Given the description of an element on the screen output the (x, y) to click on. 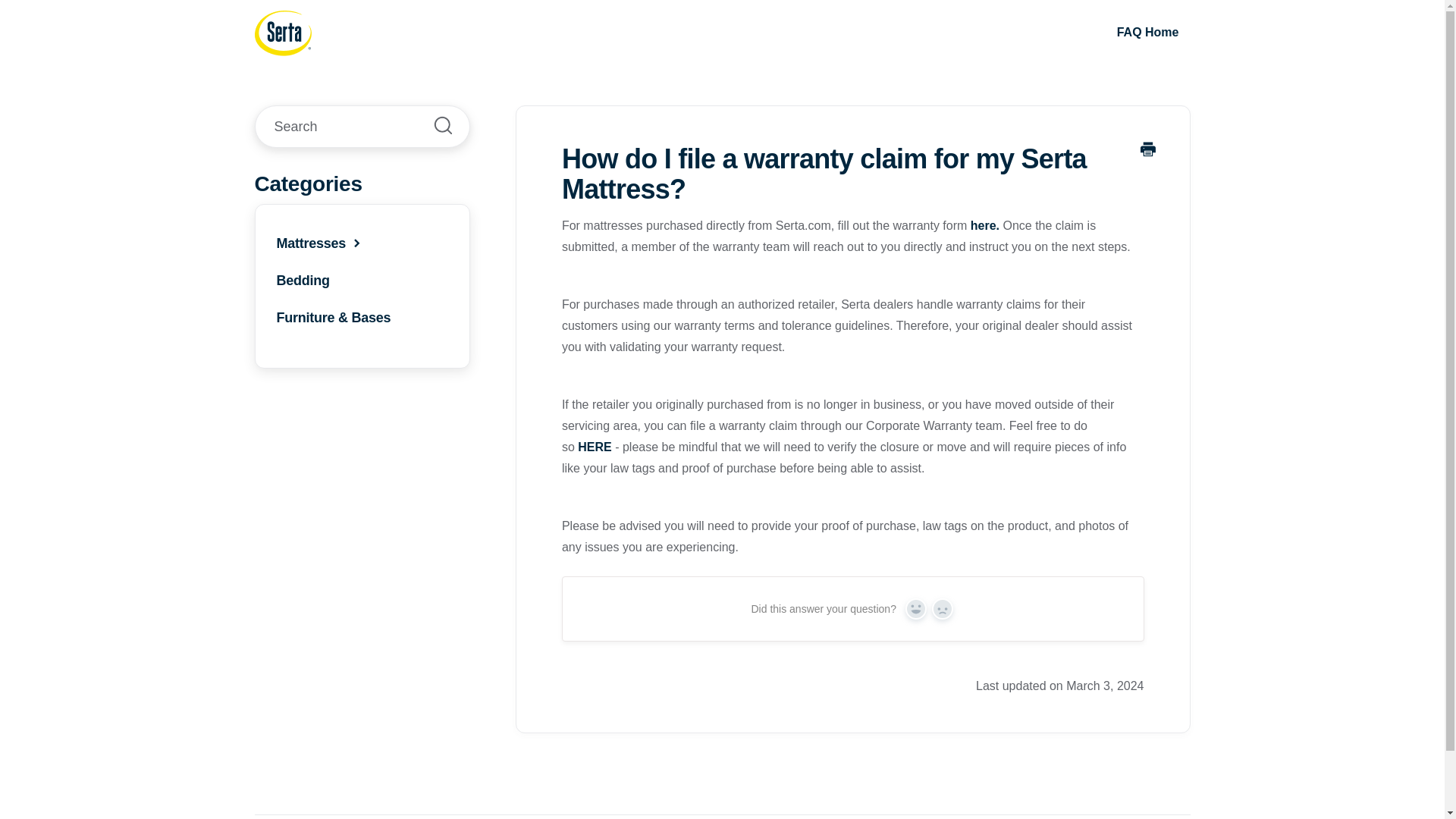
HERE (594, 446)
Bedding (302, 280)
No (942, 608)
Yes (915, 608)
here. (984, 225)
search-query (362, 126)
FAQ Home (1148, 32)
Mattresses (320, 243)
